Given the description of an element on the screen output the (x, y) to click on. 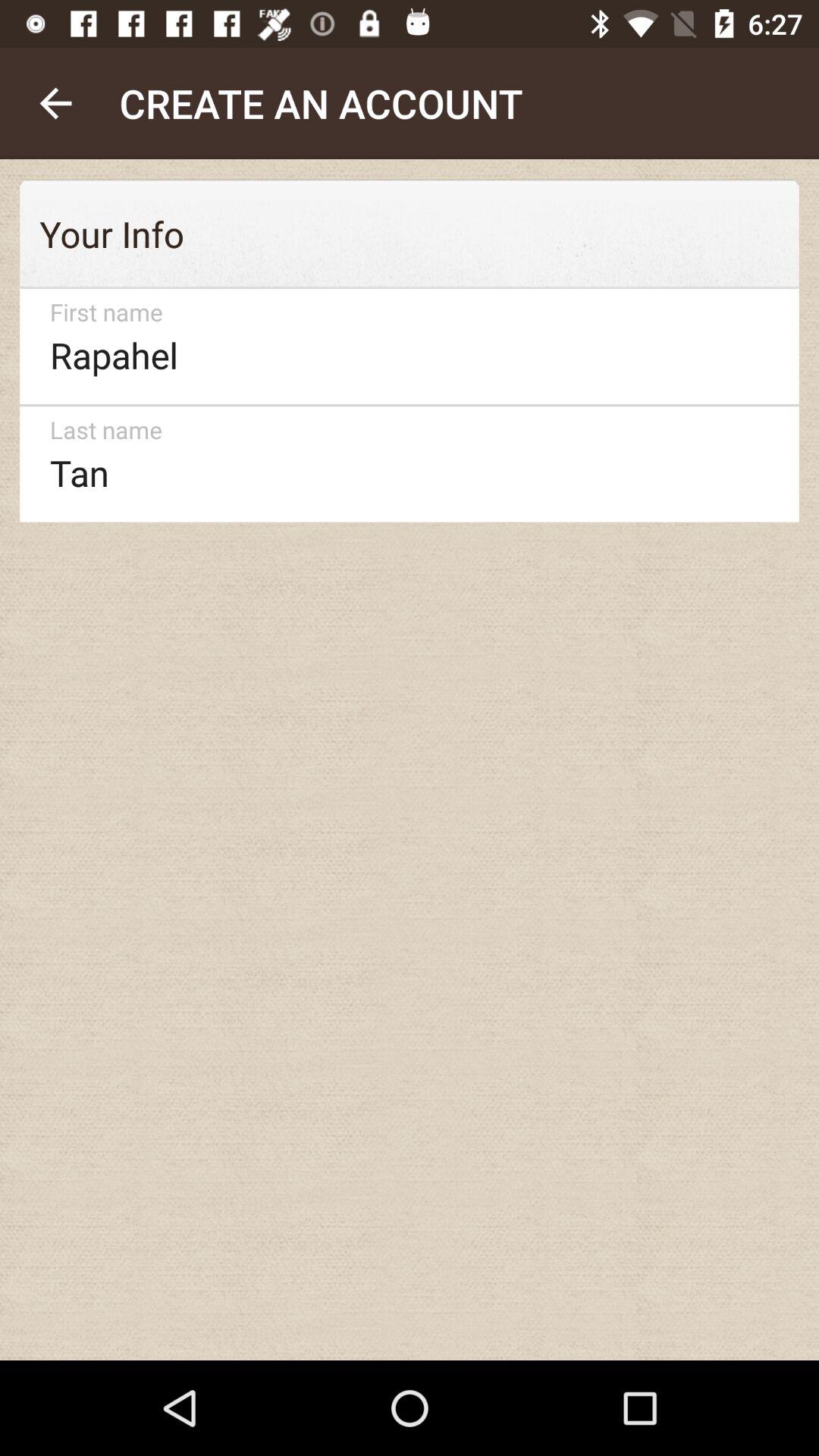
click the rapahel item (402, 346)
